Given the description of an element on the screen output the (x, y) to click on. 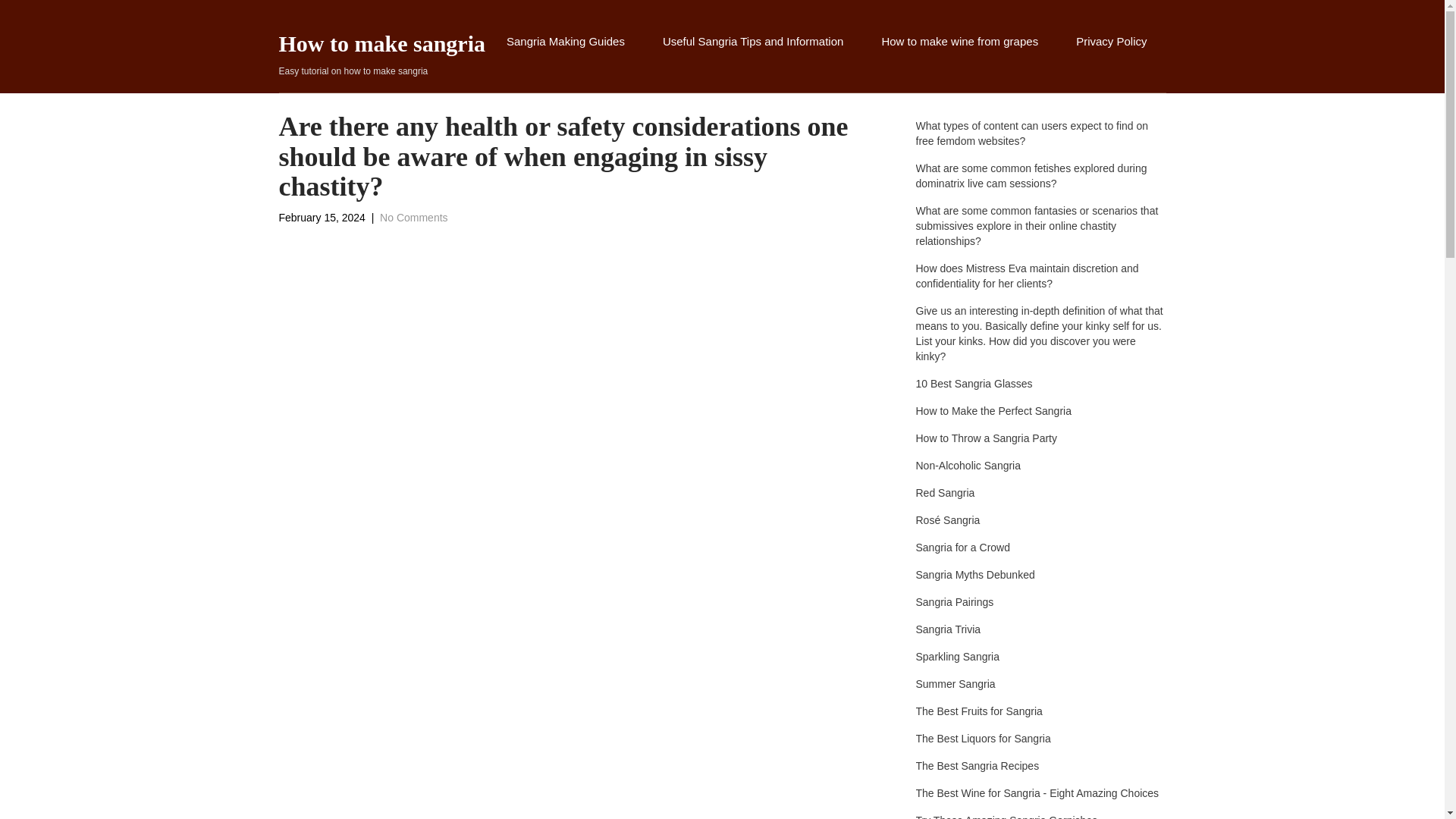
Useful Sangria Tips and Information (752, 57)
Sangria Making Guides (565, 57)
No Comments (413, 217)
How to make wine from grapes (382, 56)
Privacy Policy (959, 57)
